Given the description of an element on the screen output the (x, y) to click on. 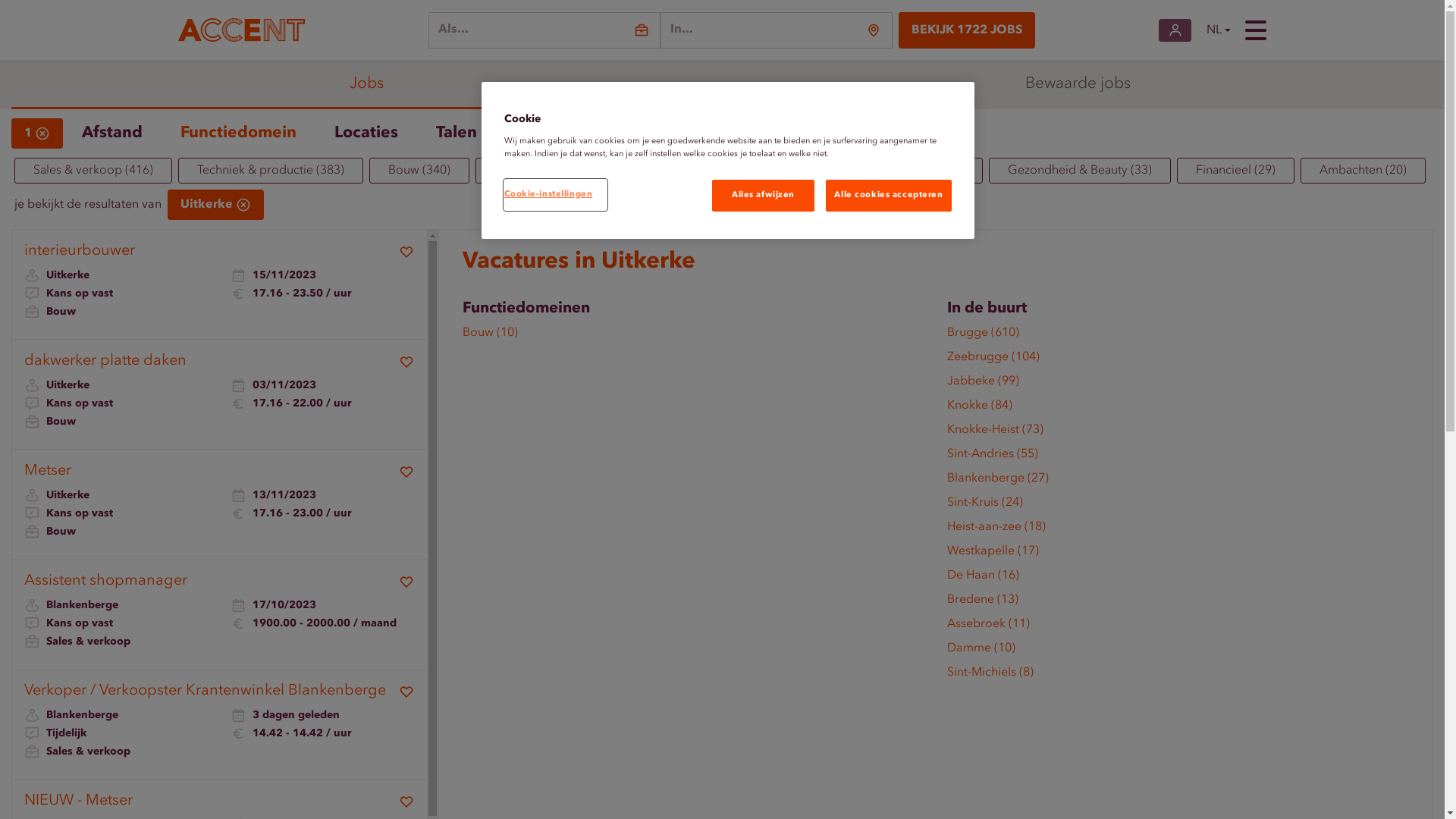
De Haan (16) Element type: text (1177, 578)
Locaties Element type: text (366, 133)
Knokke-Heist (73) Element type: text (1177, 432)
Bredene (13) Element type: text (1177, 602)
Westkapelle (17) Element type: text (1177, 554)
Jabbeke (99) Element type: text (1177, 384)
Sint-Michiels (8) Element type: text (1177, 675)
Heist-aan-zee (18) Element type: text (1177, 529)
Damme (10) Element type: text (1177, 651)
BEKIJK 1722 JOBS Element type: text (966, 30)
Gezondheid & Beauty (33) Element type: text (1079, 170)
Alle cookies accepteren Element type: text (887, 195)
Functiedomein Element type: text (238, 133)
Blankenberge (27) Element type: text (1177, 481)
Sint-Kruis (24) Element type: text (1177, 505)
Bewaarde jobs Element type: text (1077, 85)
Talen Element type: text (456, 133)
Logistiek & distributie (220) Element type: text (569, 170)
Sales & verkoop (416) Element type: text (93, 170)
Brugge (610) Element type: text (1177, 335)
Techniek & productie (383) Element type: text (270, 170)
Administratie (70) Element type: text (914, 170)
Ambachten (20) Element type: text (1362, 170)
Bouw (10) Element type: text (693, 335)
Horeca & toerisme (219) Element type: text (755, 170)
Assebroek (11) Element type: text (1177, 627)
Sint-Andries (55) Element type: text (1177, 457)
Knokke (84) Element type: text (1177, 408)
Cookie-instellingen Element type: text (554, 194)
1 Element type: text (36, 133)
Afstand Element type: text (112, 133)
Zeebrugge (104) Element type: text (1177, 360)
Uitkerke Element type: text (215, 204)
Alles afwijzen Element type: text (763, 195)
Bouw (340) Element type: text (419, 170)
NL Element type: text (1218, 29)
Jobs Element type: text (366, 85)
Financieel (29) Element type: text (1235, 170)
